Given the description of an element on the screen output the (x, y) to click on. 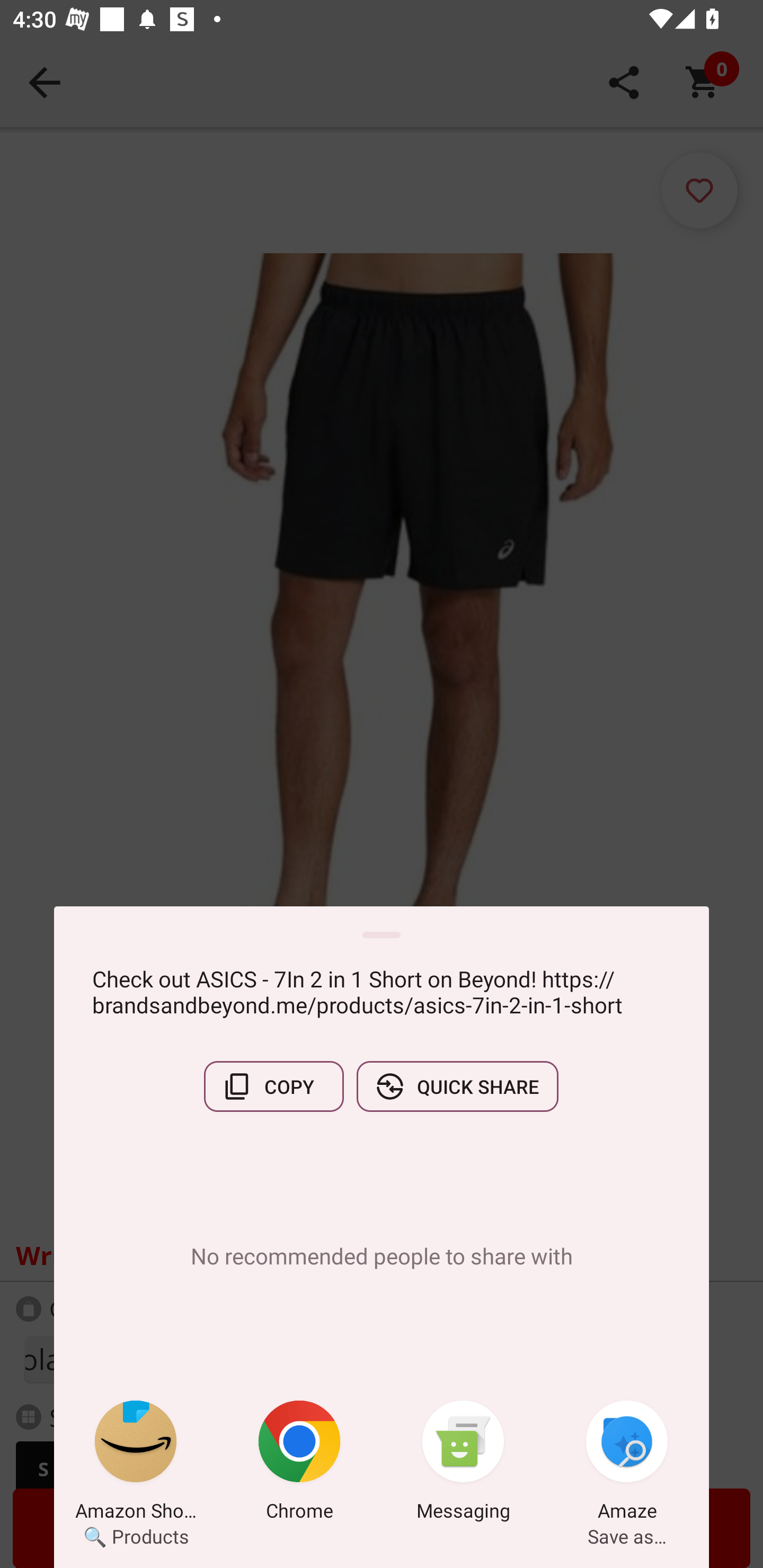
COPY (273, 1086)
QUICK SHARE (457, 1086)
Amazon Shopping 🔍 Products (135, 1463)
Chrome (299, 1463)
Messaging (463, 1463)
Amaze Save as… (626, 1463)
